Given the description of an element on the screen output the (x, y) to click on. 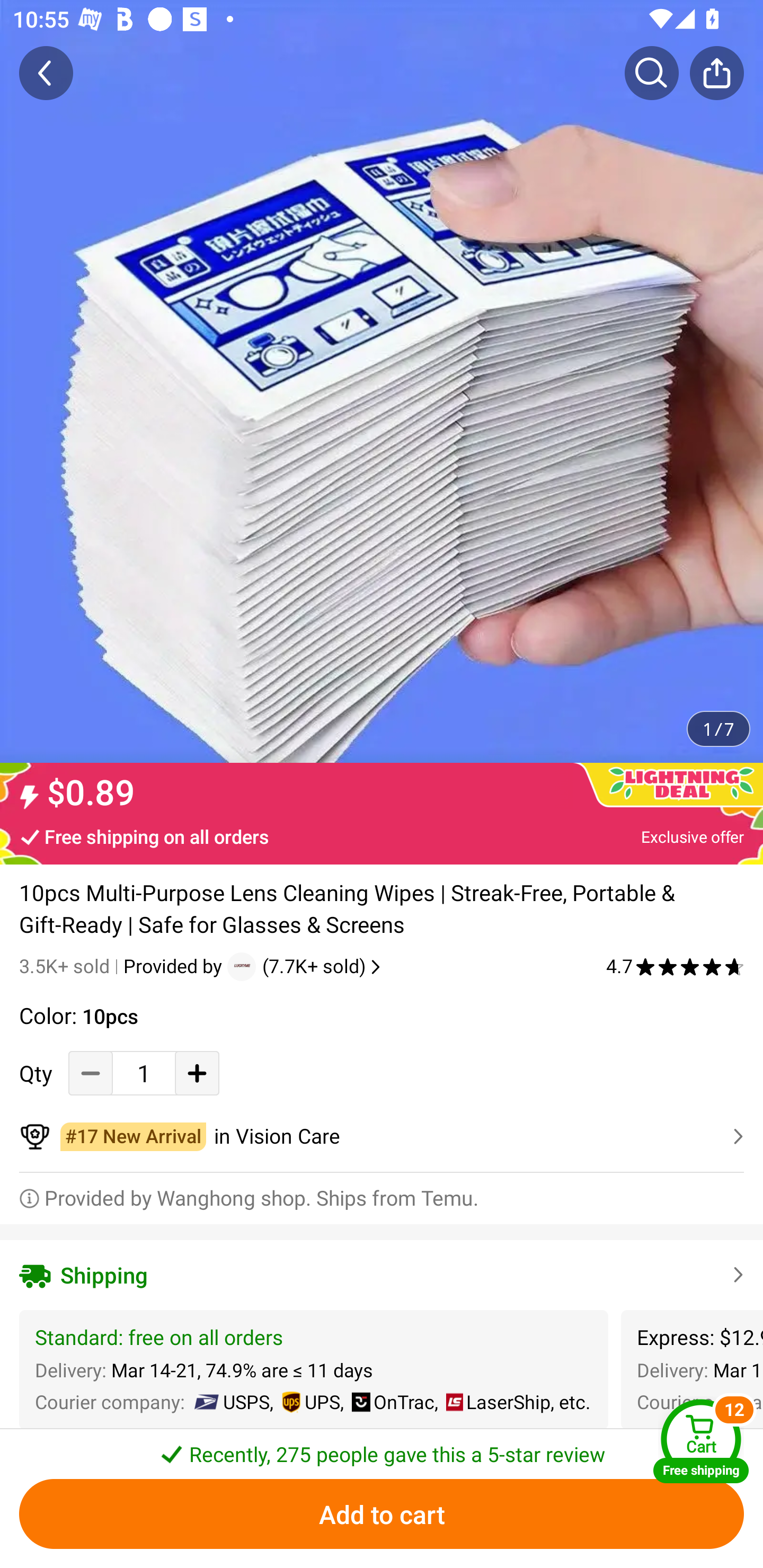
Back (46, 72)
Share (716, 72)
Free shipping on all orders Exclusive offer (381, 836)
3.5K+ sold Provided by  (123, 966)
4.7 (674, 966)
Decrease Quantity Button (90, 1073)
1 (143, 1073)
Add Quantity button (196, 1073)
￼￼in Vision Care (381, 1136)
Shipping (381, 1274)
Cart Free shipping Cart (701, 1440)
￼￼Recently, 275 people gave this a 5-star review (381, 1448)
Add to cart (381, 1513)
